Given the description of an element on the screen output the (x, y) to click on. 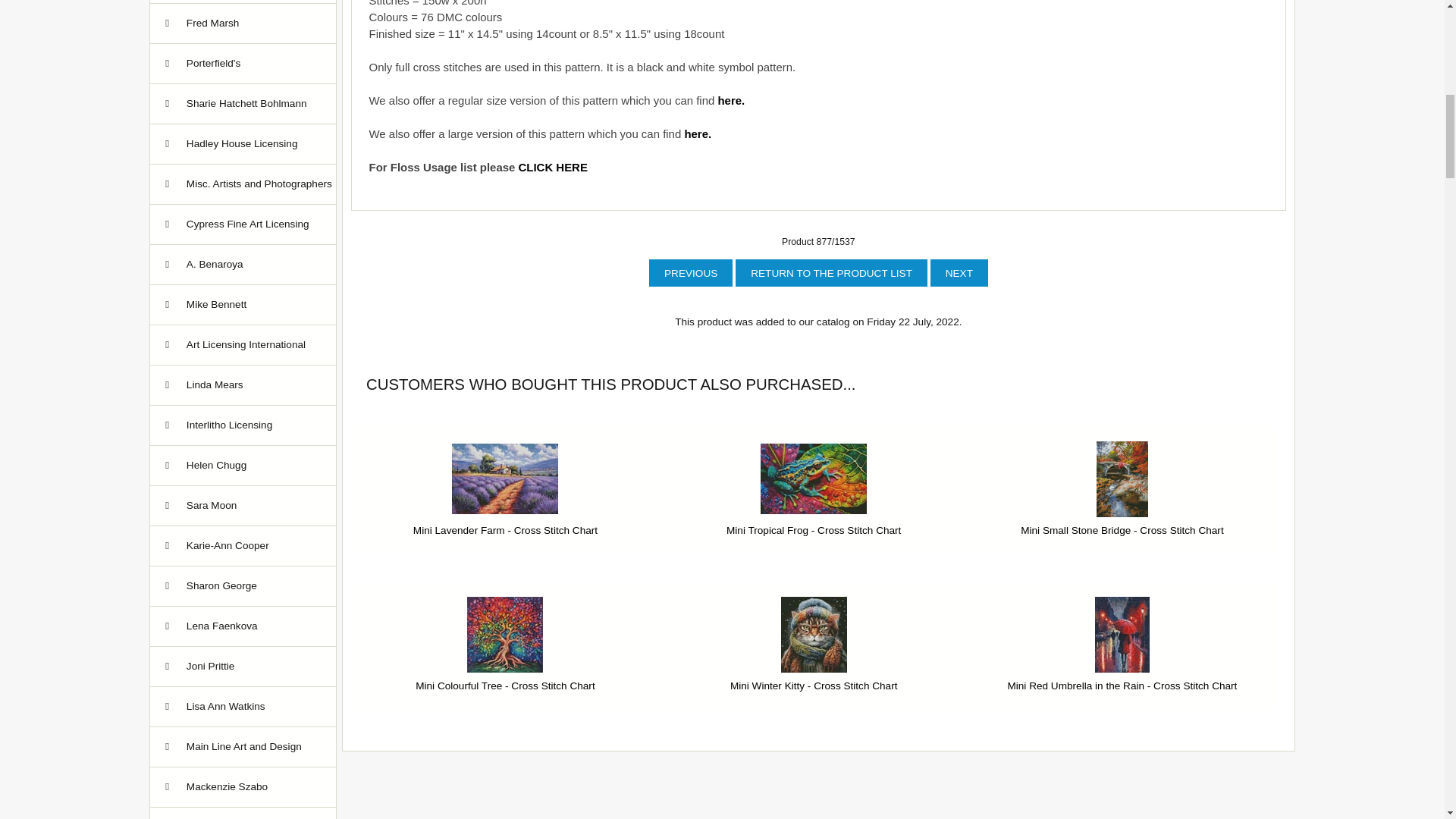
Mini Tropical Frog - Cross Stitch Chart (812, 478)
Mini Lavender Farm - Cross Stitch Chart (504, 478)
Mini Colourful Tree - Cross Stitch Chart (505, 634)
